Given the description of an element on the screen output the (x, y) to click on. 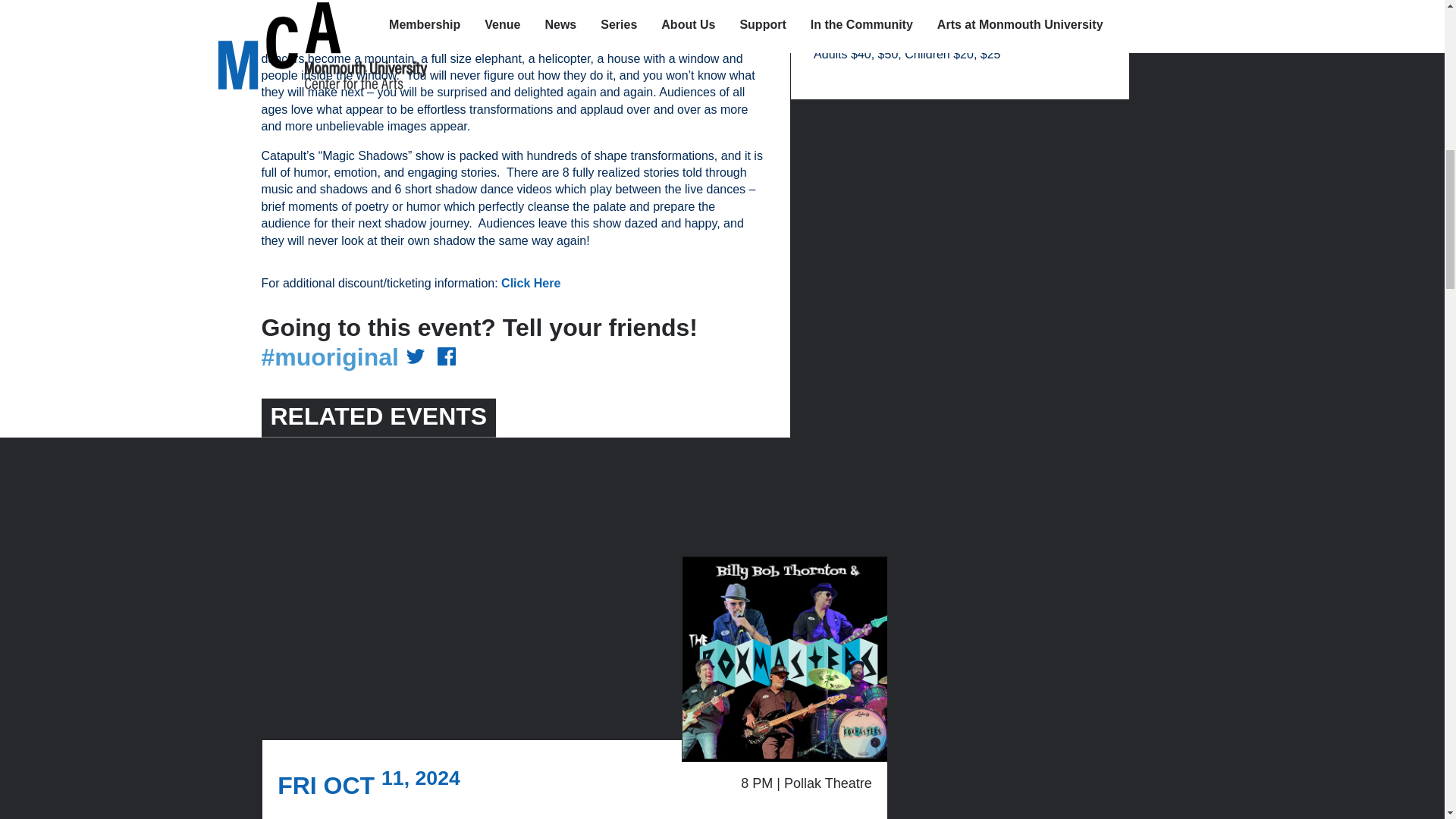
Pollak Theatre (854, 40)
Click Here (530, 282)
